Given the description of an element on the screen output the (x, y) to click on. 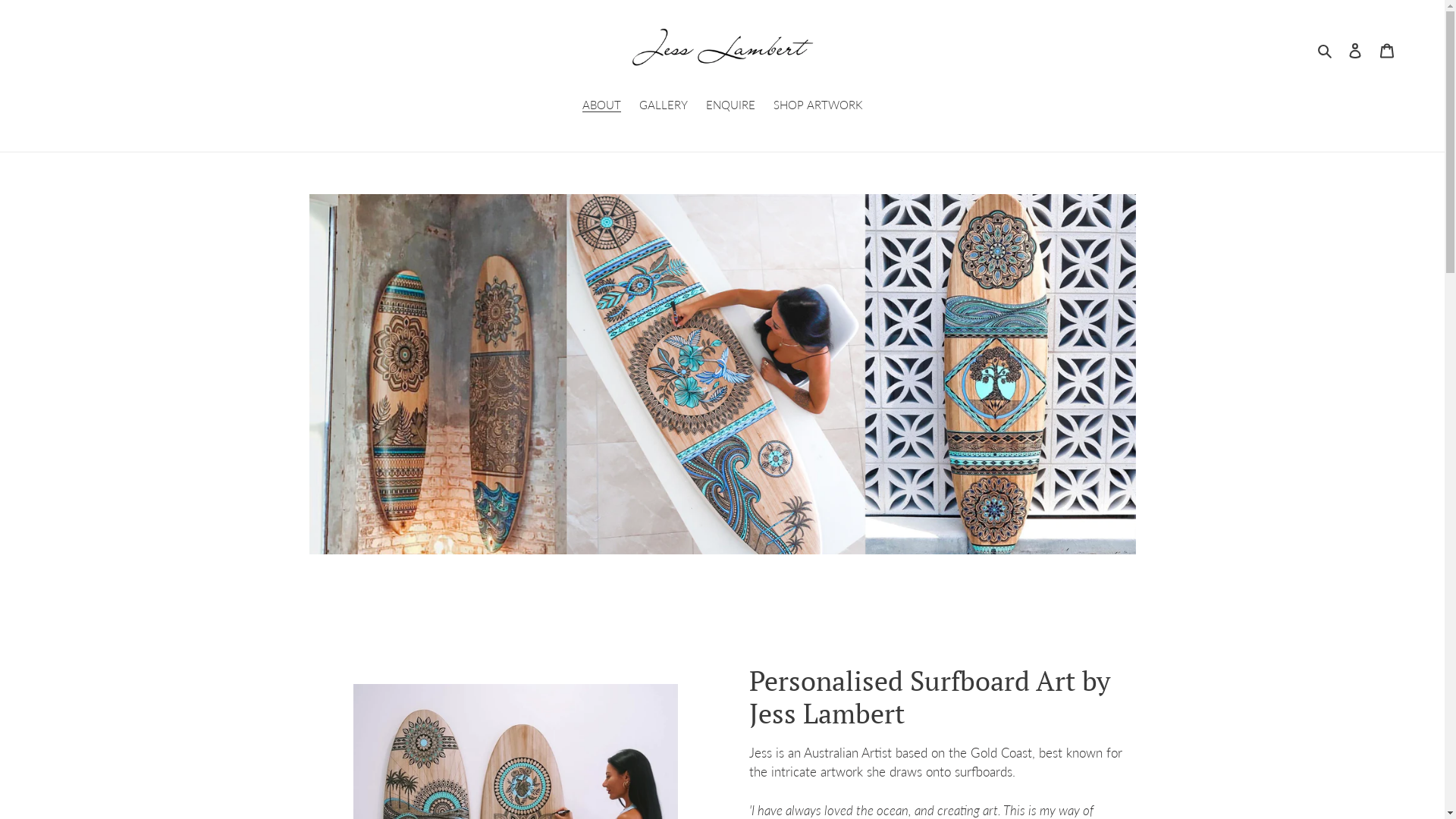
GALLERY Element type: text (662, 106)
ABOUT Element type: text (601, 106)
Log in Element type: text (1355, 49)
ENQUIRE Element type: text (729, 106)
SHOP ARTWORK Element type: text (817, 106)
Search Element type: text (1325, 49)
Cart Element type: text (1386, 49)
